Given the description of an element on the screen output the (x, y) to click on. 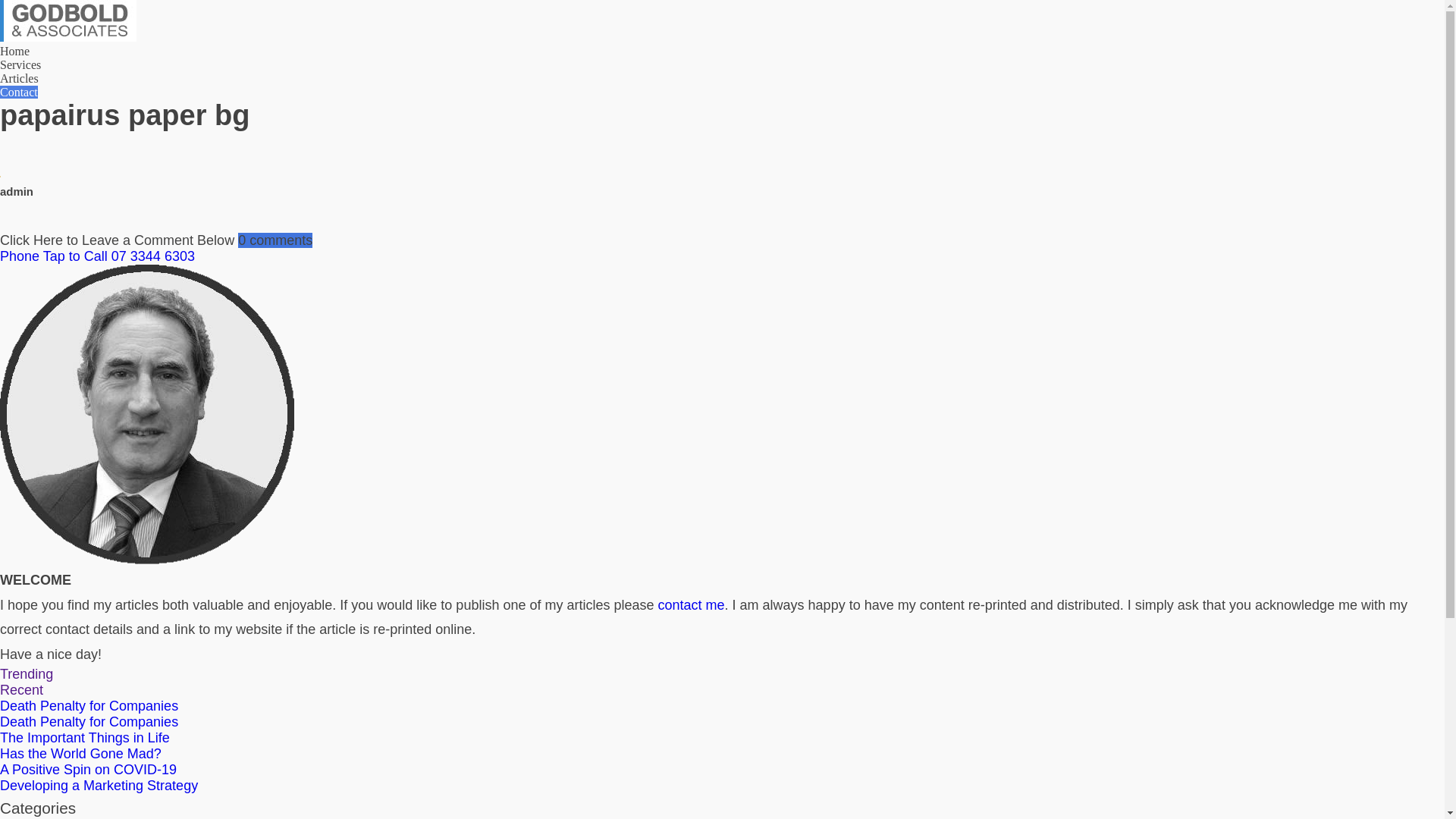
Articles Element type: text (19, 78)
Phone Tap to Call 07 3344 6303 Element type: text (722, 256)
Death Penalty for Companies Element type: text (89, 705)
A Positive Spin on COVID-19 Element type: text (88, 769)
Developing a Marketing Strategy Element type: text (98, 785)
Has the World Gone Mad? Element type: text (80, 753)
Death Penalty for Companies Element type: text (89, 721)
contact me Element type: text (691, 604)
Trending Element type: text (26, 673)
Recent Element type: text (21, 689)
The Important Things in Life Element type: text (84, 737)
Contact Element type: text (18, 91)
Home Element type: text (14, 50)
Services Element type: text (20, 64)
